Given the description of an element on the screen output the (x, y) to click on. 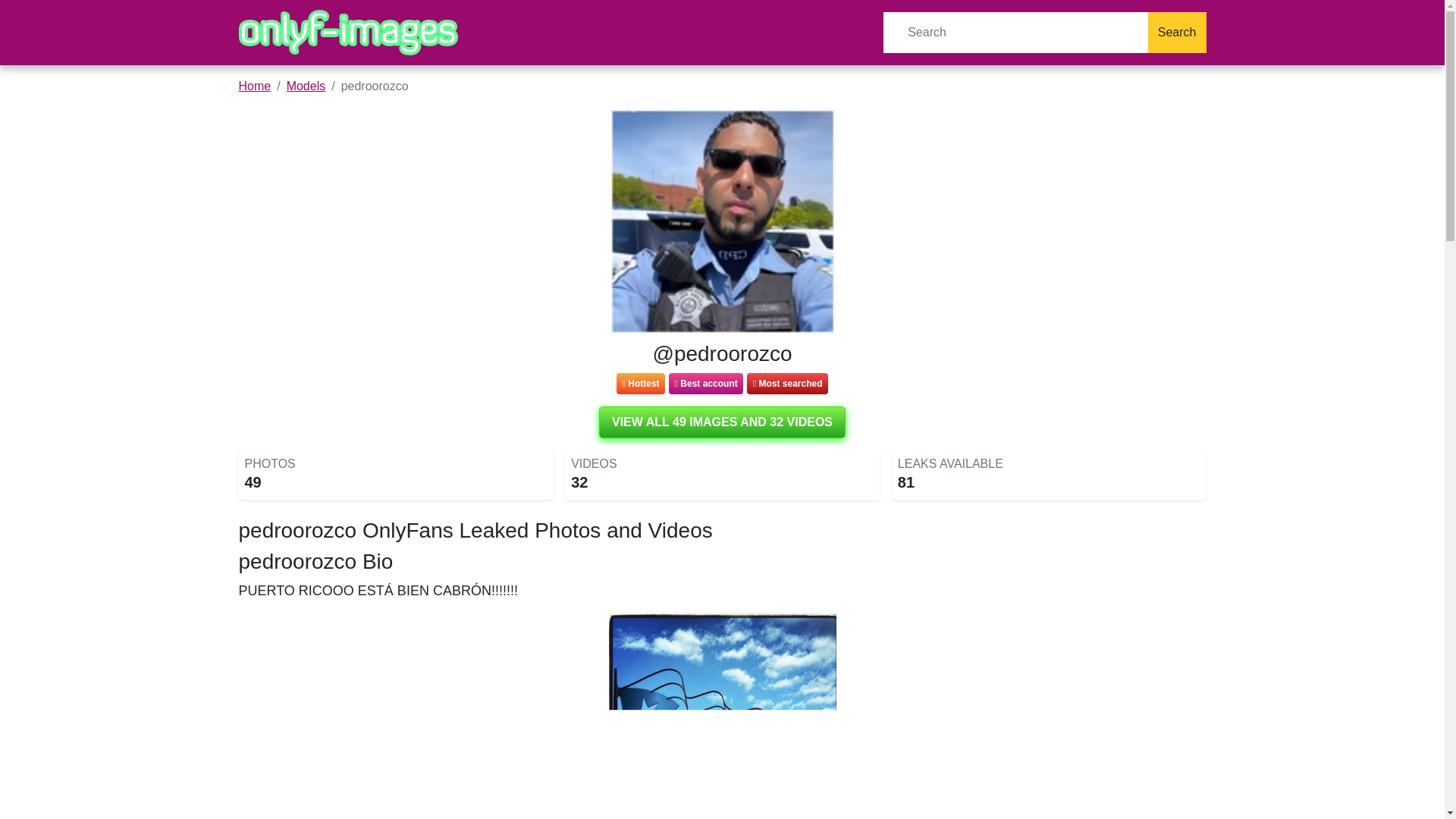
Home (254, 85)
Search (1177, 32)
VIEW ALL 49 IMAGES AND 32 VIDEOS (721, 422)
Models (306, 85)
